Given the description of an element on the screen output the (x, y) to click on. 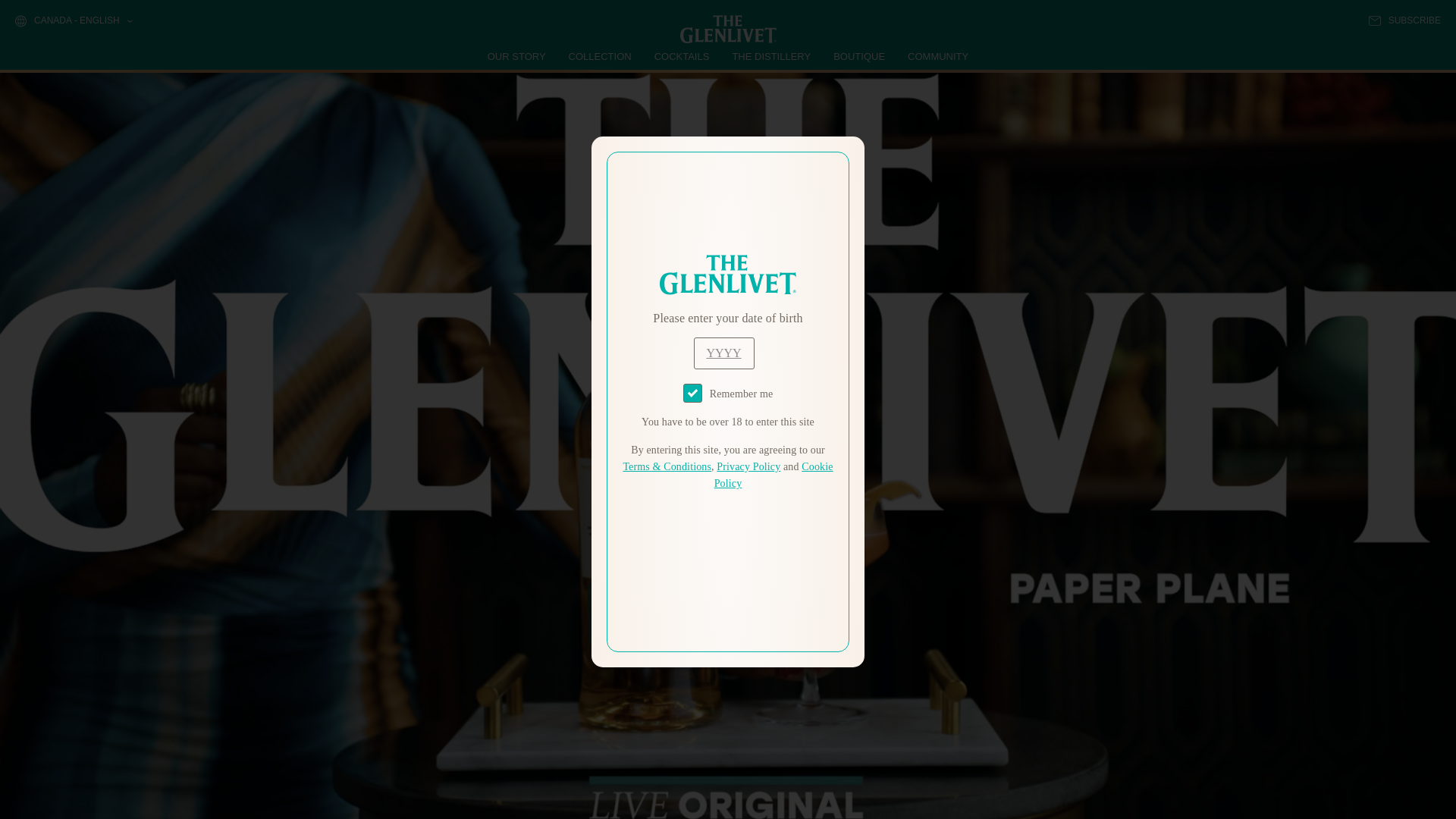
COLLECTION (600, 56)
COMMUNITY (937, 56)
BOUTIQUE (858, 56)
OUR STORY (516, 56)
SUBSCRIBE (1404, 20)
Cookie Policy (773, 474)
COCKTAILS (681, 56)
CANADA - ENGLISH (73, 21)
THE DISTILLERY (771, 56)
Privacy Policy (748, 466)
year (723, 353)
